Given the description of an element on the screen output the (x, y) to click on. 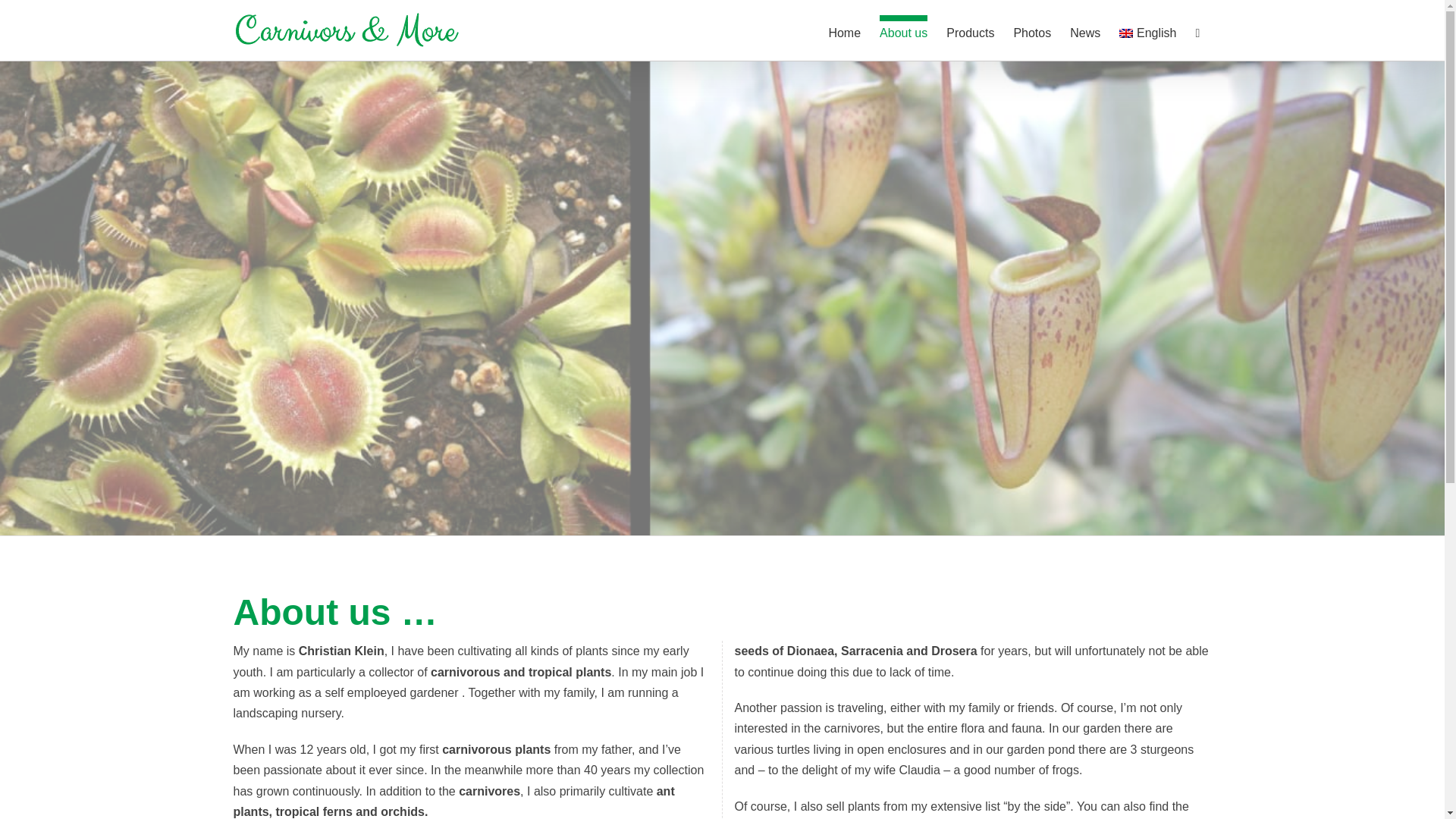
Home (844, 30)
Photos (1032, 30)
News (1085, 30)
English (1147, 30)
Products (970, 30)
English (1147, 30)
About us (903, 30)
